Given the description of an element on the screen output the (x, y) to click on. 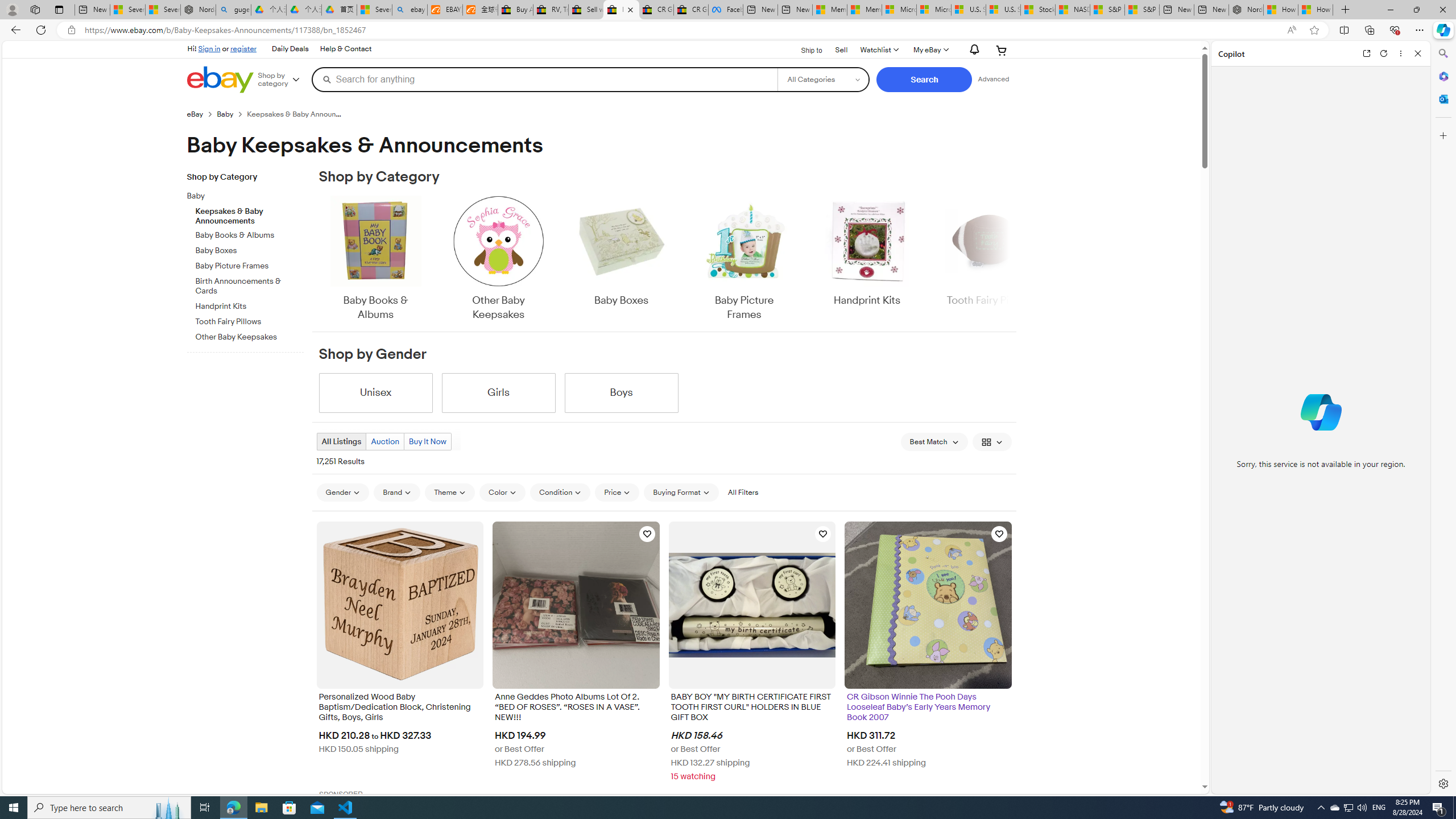
View: Gallery View (991, 441)
eBay (201, 113)
Handprint Kits (866, 258)
Daily Deals (290, 49)
Boys (621, 392)
Brand (397, 492)
Sell (841, 49)
My eBayExpand My eBay (930, 49)
Keepsakes & Baby Announcements (249, 214)
Birth Announcements & Cards (249, 286)
